Given the description of an element on the screen output the (x, y) to click on. 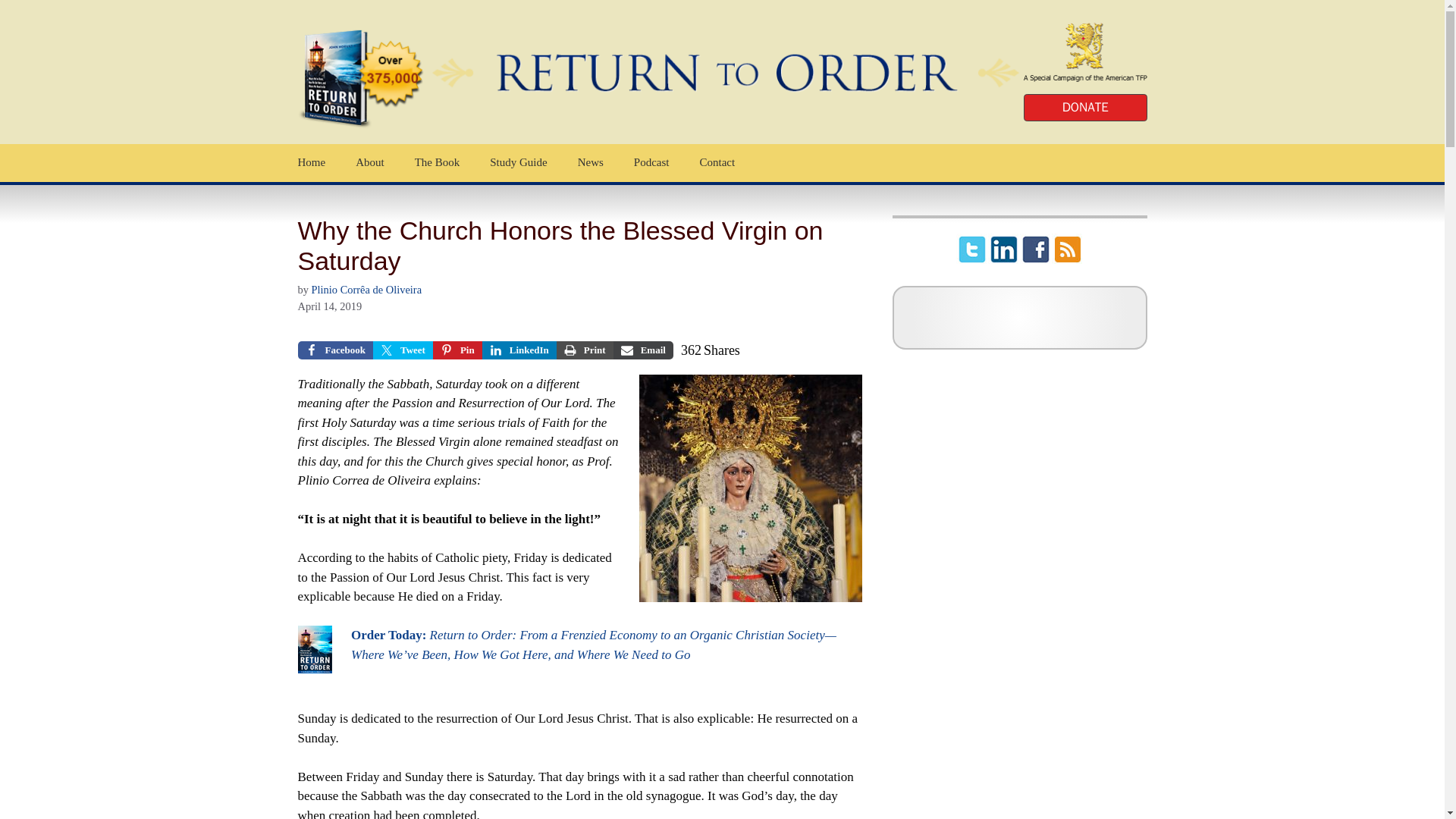
Home (311, 162)
Podcast (651, 162)
Study Guide (518, 162)
Share on LinkedIn (518, 350)
DONATE (1085, 107)
Share on Pinterest (456, 350)
About (369, 162)
Share on Twitter (402, 350)
Share via Email (642, 350)
